Given the description of an element on the screen output the (x, y) to click on. 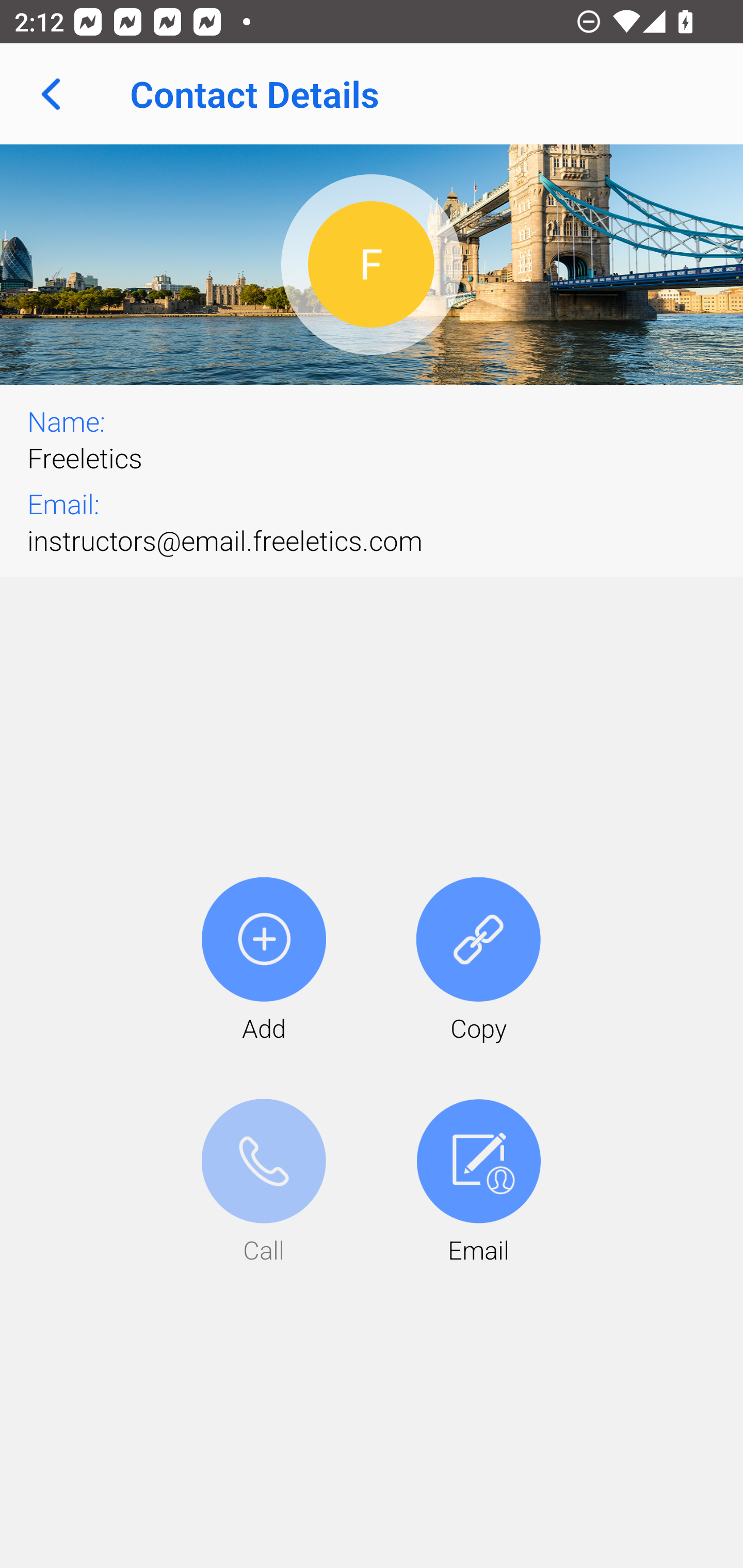
Navigate up (50, 93)
Add (264, 961)
Copy (478, 961)
Call (264, 1182)
Email (478, 1182)
